Given the description of an element on the screen output the (x, y) to click on. 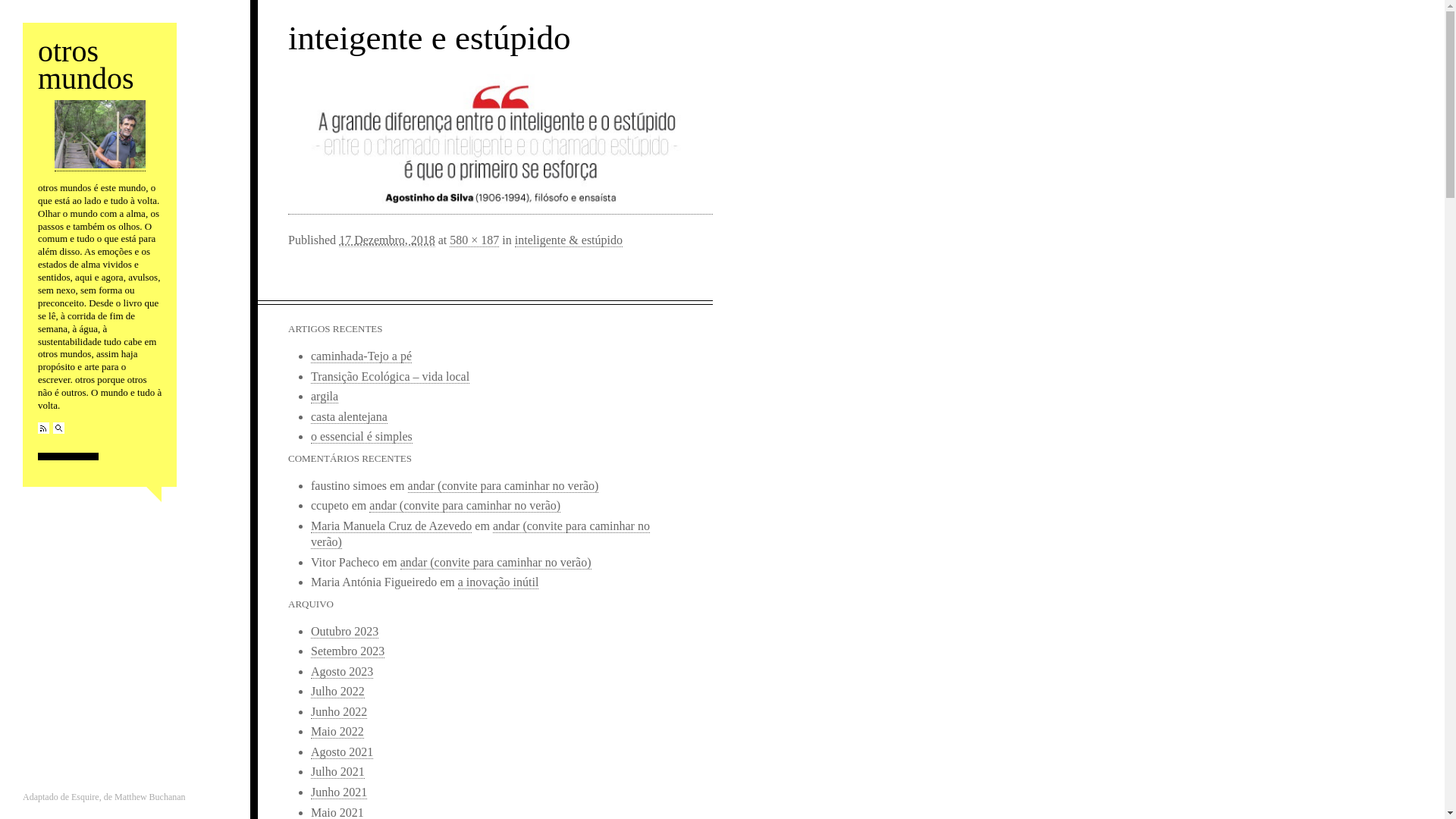
Search Element type: text (58, 427)
Agosto 2023 Element type: text (341, 671)
Junho 2022 Element type: text (338, 711)
Maio 2022 Element type: text (337, 731)
Outubro 2023 Element type: text (344, 631)
Setembro 2023 Element type: text (347, 651)
Agosto 2021 Element type: text (341, 752)
RSS Feed Element type: text (43, 427)
argila Element type: text (324, 396)
Julho 2021 Element type: text (337, 771)
otros mundos Element type: text (85, 64)
casta alentejana Element type: text (348, 416)
Maria Manuela Cruz de Azevedo Element type: text (390, 526)
Junho 2021 Element type: text (338, 792)
Julho 2022 Element type: text (337, 691)
